Given the description of an element on the screen output the (x, y) to click on. 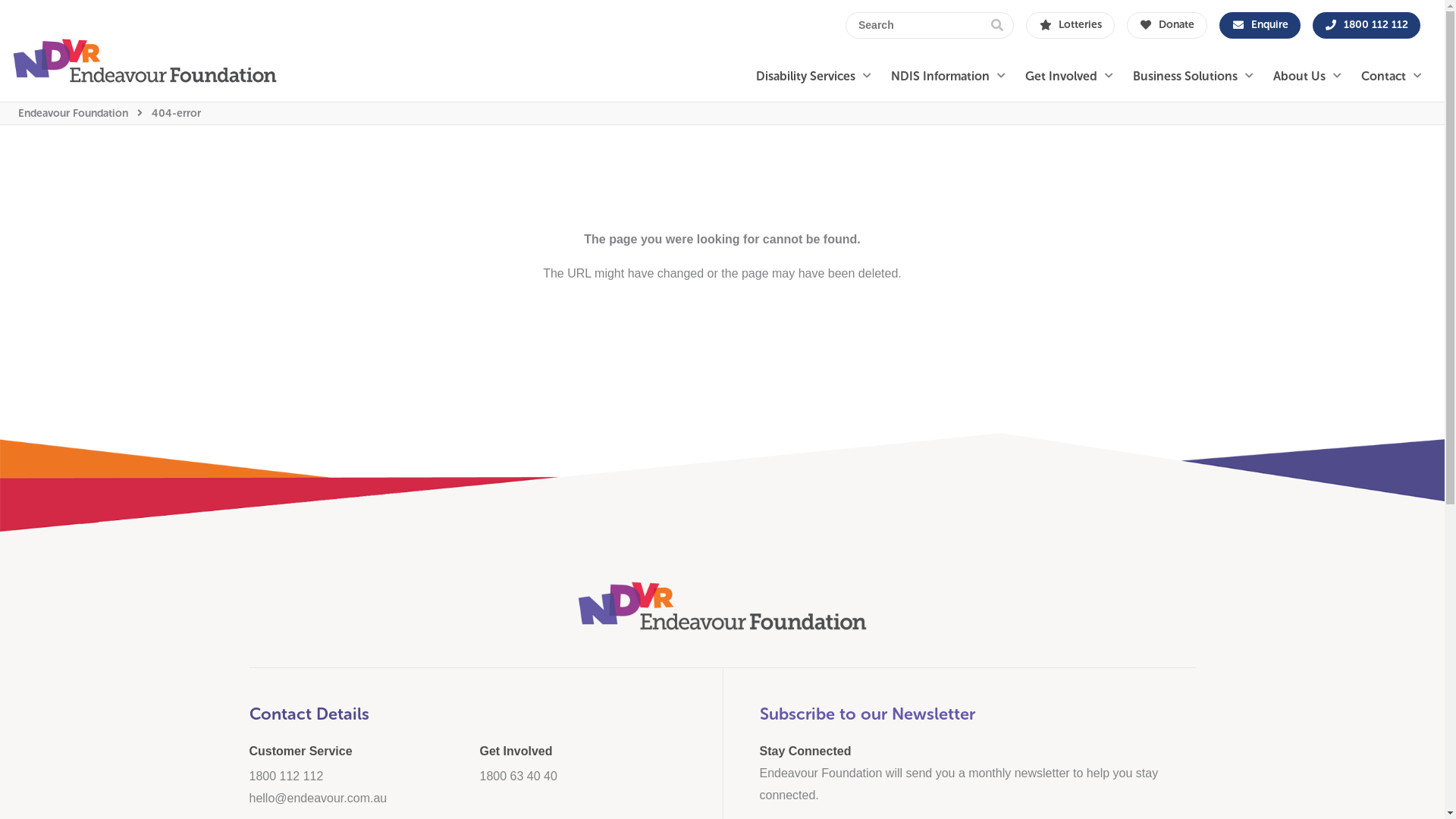
1800 112 112 Element type: text (285, 775)
hello@endeavour.com.au Element type: text (317, 797)
search Element type: hover (996, 26)
Send Element type: text (760, 480)
Send Element type: text (760, 432)
1800 63 40 40 Element type: text (517, 775)
1800 112 112 Element type: text (1365, 25)
Donate Element type: text (1167, 25)
Endeavour Foundation Element type: text (73, 112)
Send enquiry Element type: text (783, 515)
Enquire Element type: text (1259, 25)
404-error Element type: text (175, 112)
Lotteries Element type: text (1070, 25)
